Given the description of an element on the screen output the (x, y) to click on. 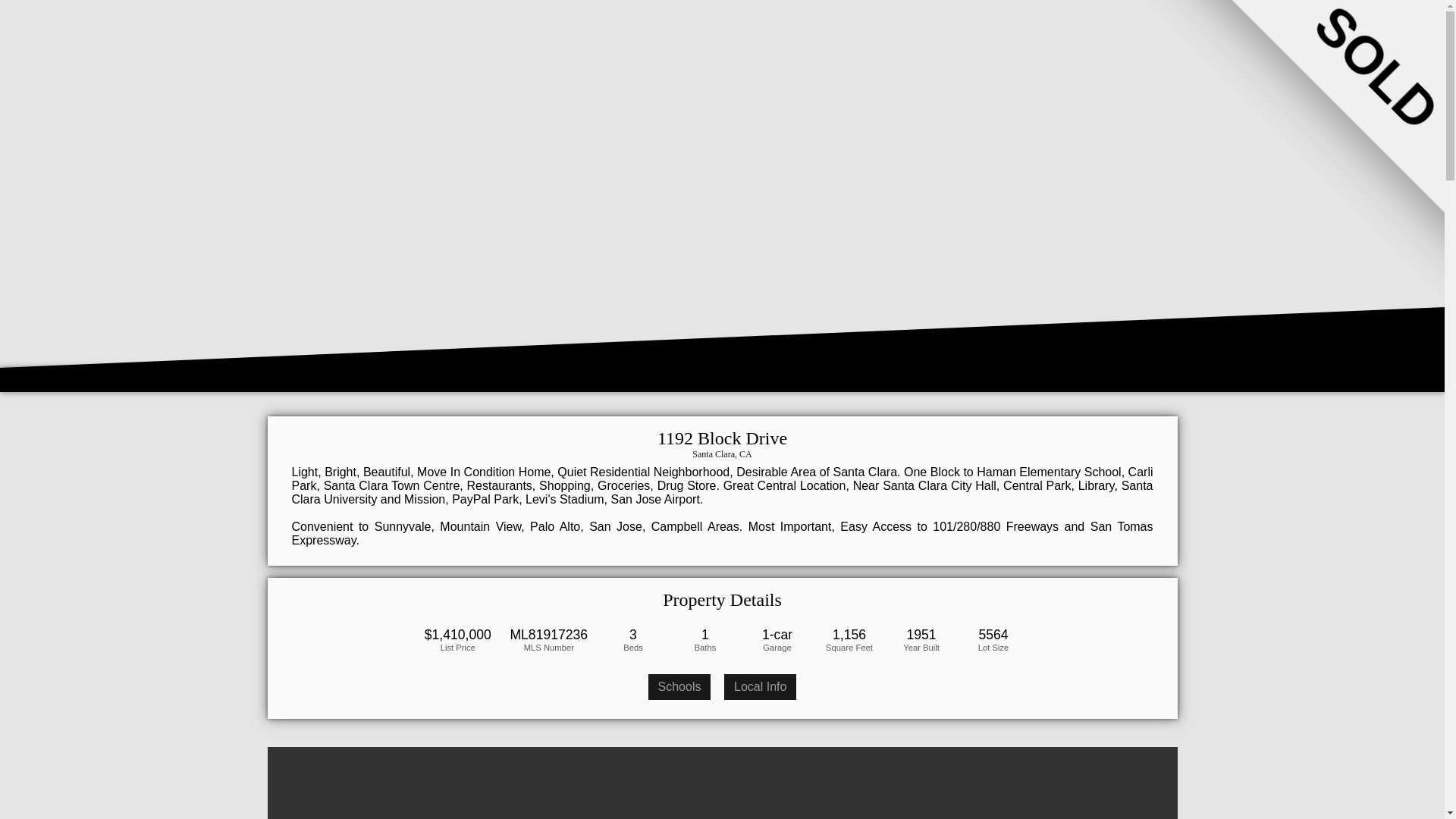
Local Info Element type: text (760, 686)
Schools Element type: text (679, 686)
